Given the description of an element on the screen output the (x, y) to click on. 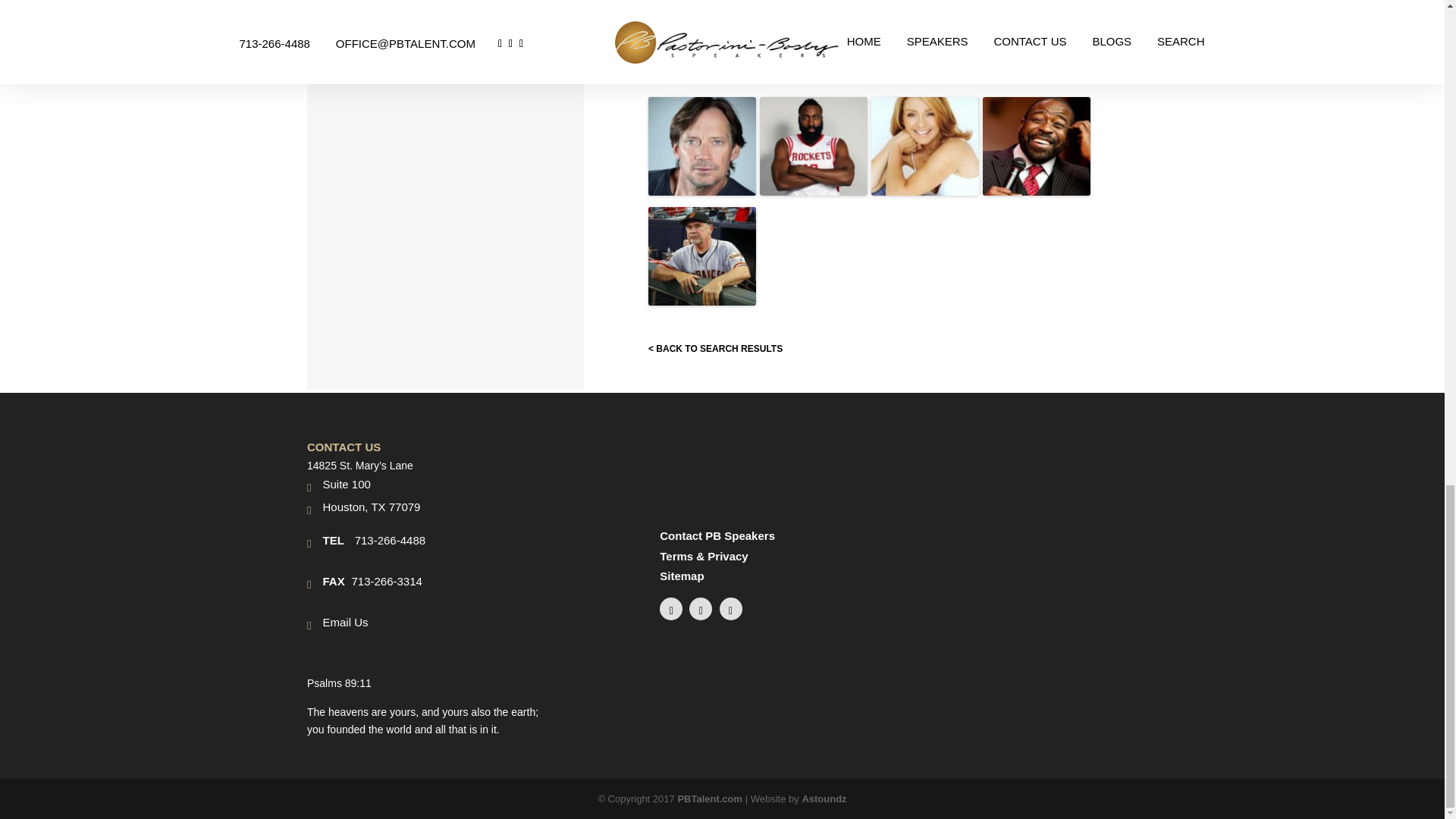
PB Talent (709, 798)
Astoundz (823, 798)
